Given the description of an element on the screen output the (x, y) to click on. 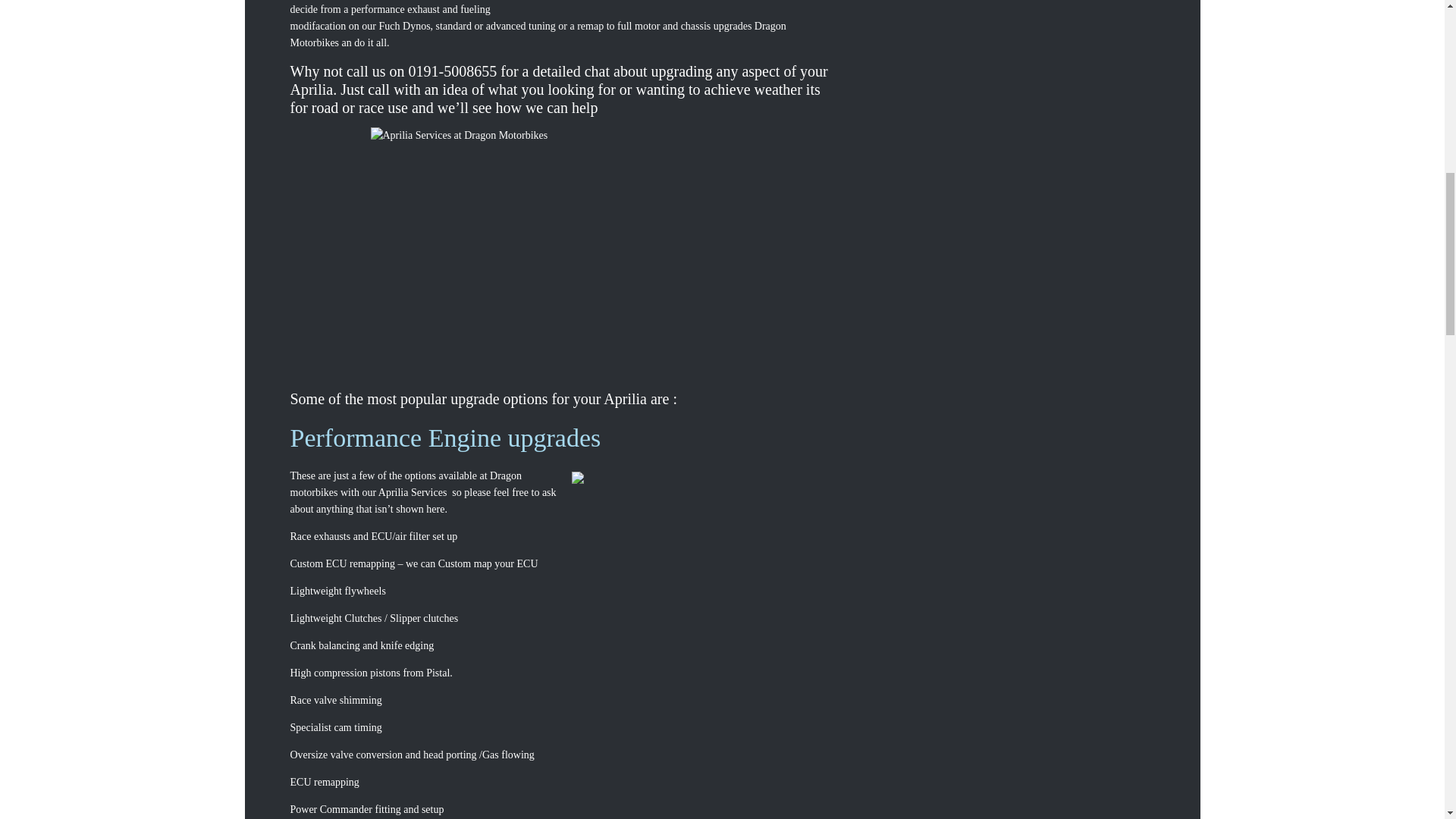
Aprilia Services  (562, 230)
Aprilia Services  (703, 610)
